Given the description of an element on the screen output the (x, y) to click on. 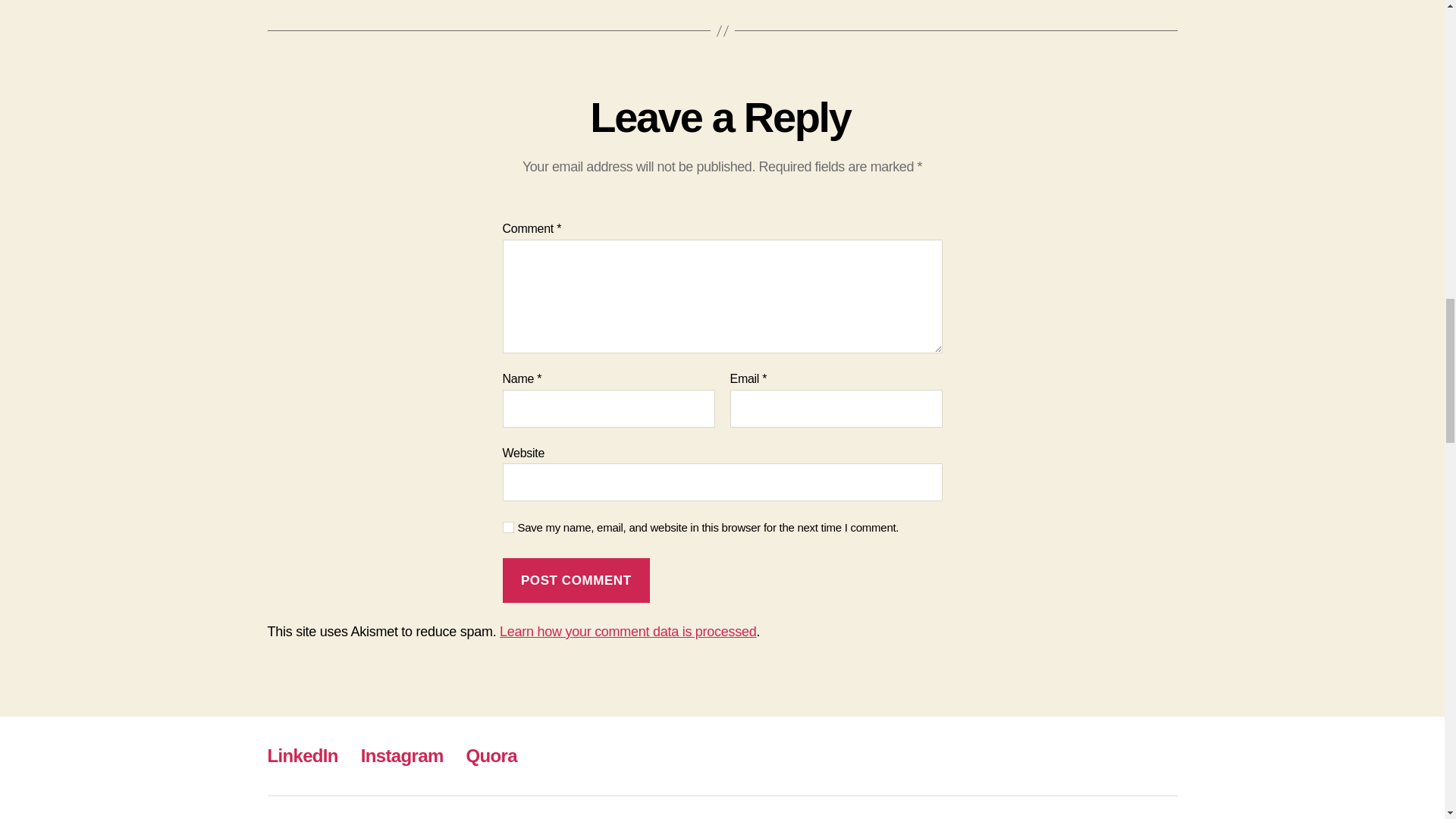
Post Comment (575, 579)
Instagram (402, 755)
yes (507, 527)
Learn how your comment data is processed (627, 631)
Post Comment (575, 579)
Quora (490, 755)
LinkedIn (301, 755)
